Given the description of an element on the screen output the (x, y) to click on. 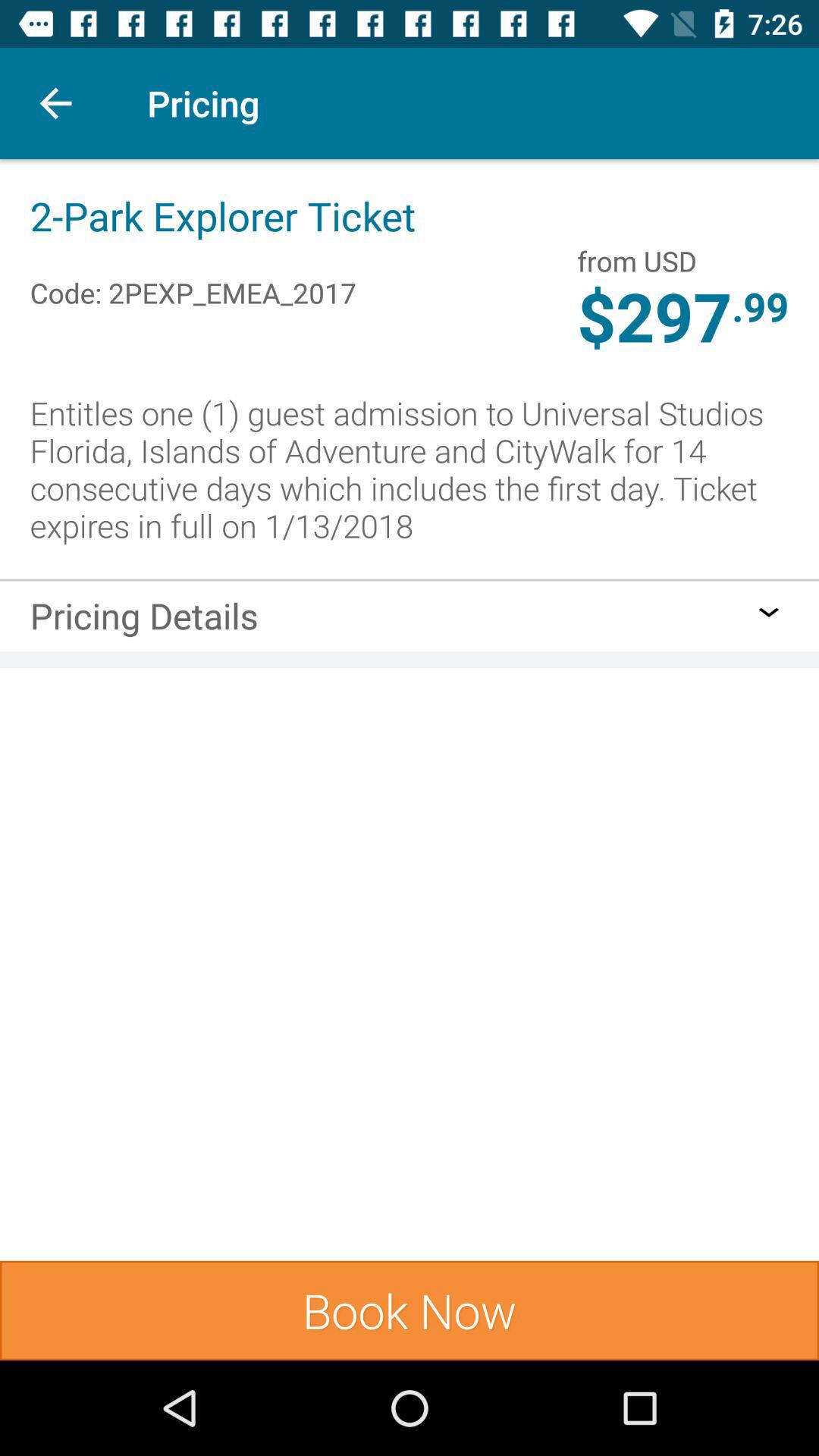
open icon above entitles one 1 (654, 318)
